Given the description of an element on the screen output the (x, y) to click on. 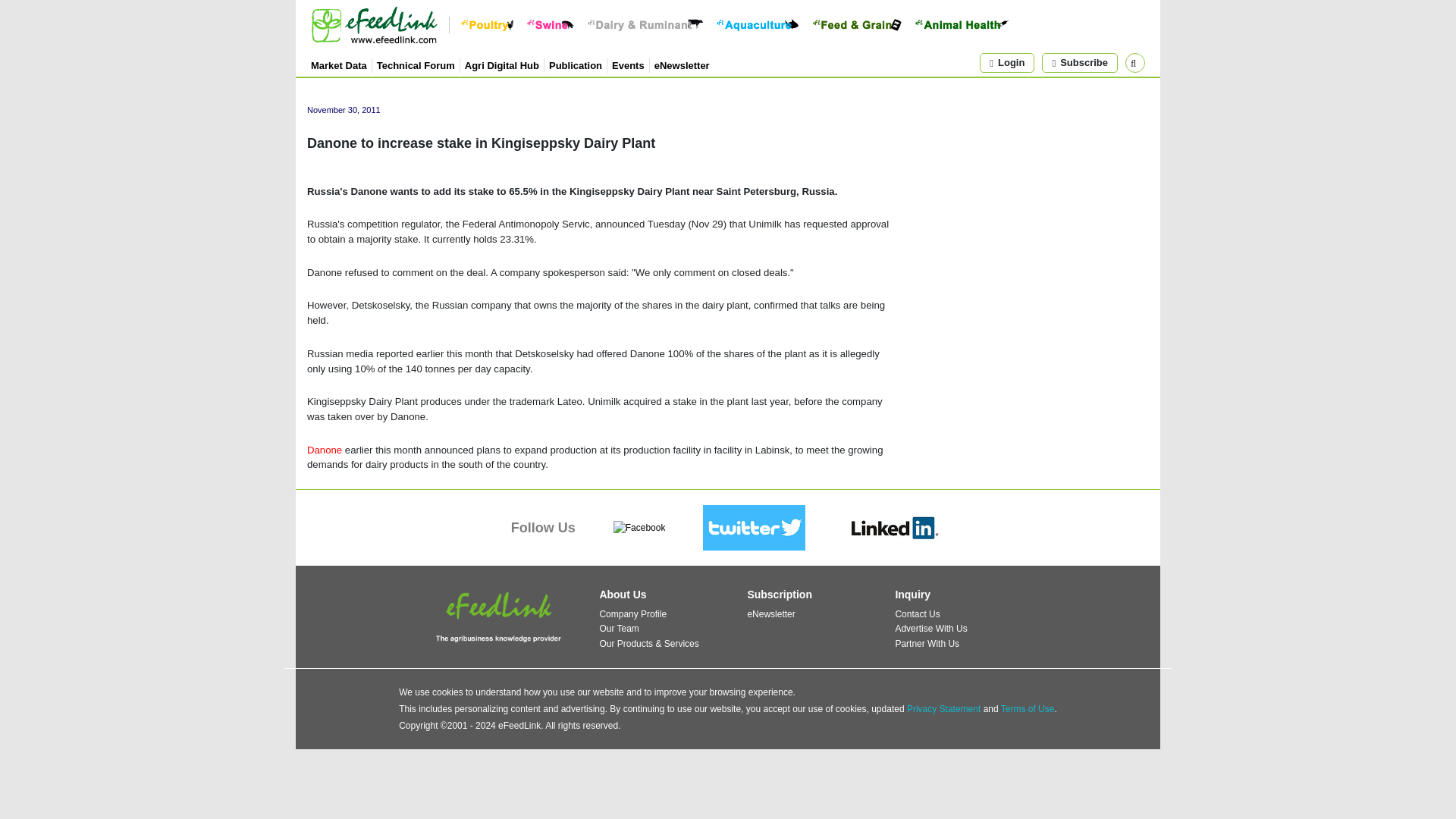
Technical Forum (415, 64)
Partner With Us (927, 643)
Aquaculture (756, 24)
Market Data (338, 64)
Company Profile (632, 614)
eNewsletter (770, 614)
Advertise With Us (930, 628)
Our Team (618, 628)
Back to eFeedLink Homepage (374, 24)
Events (628, 64)
